Given the description of an element on the screen output the (x, y) to click on. 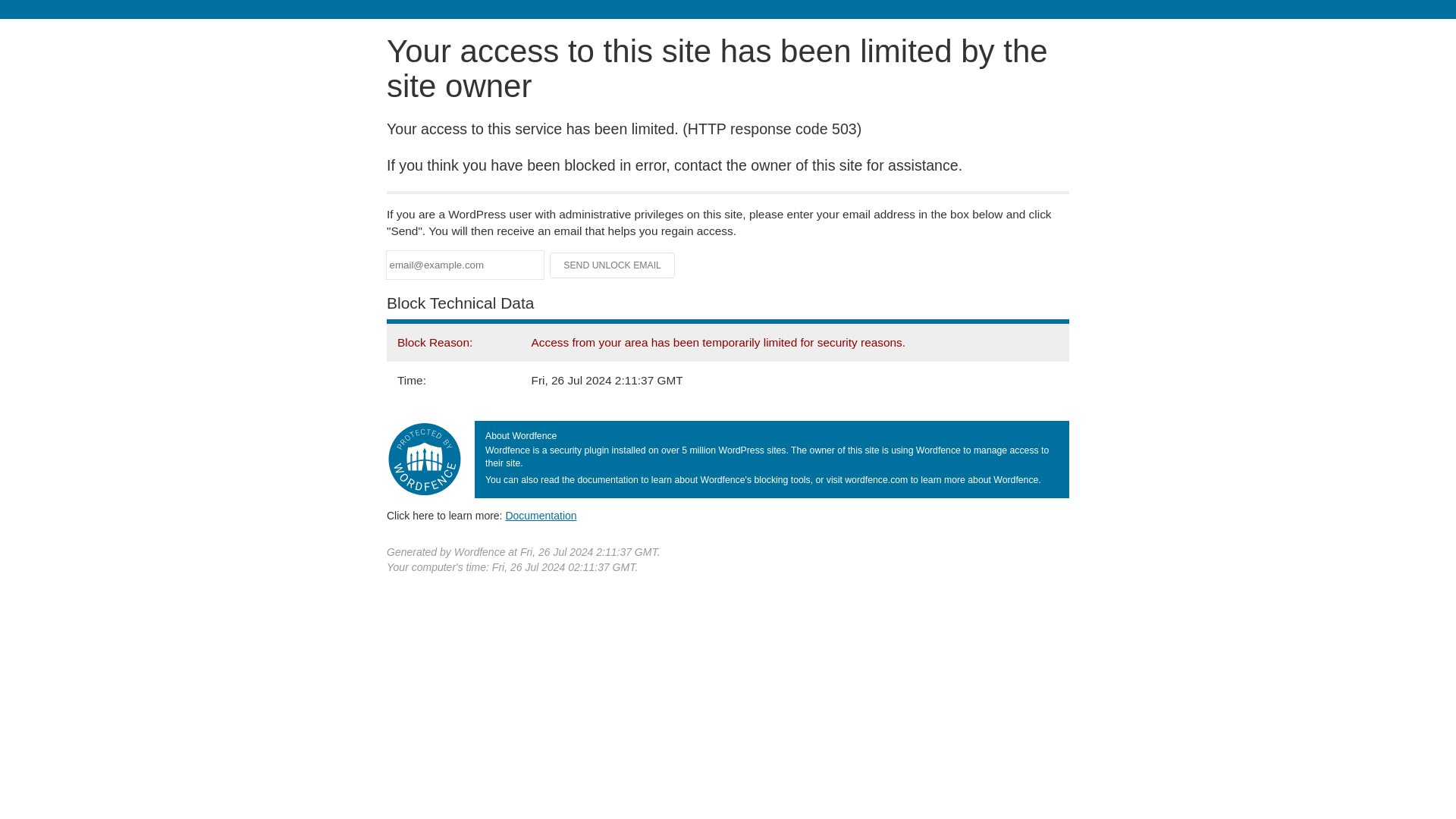
Send Unlock Email (612, 265)
Send Unlock Email (612, 265)
Documentation (540, 515)
